Given the description of an element on the screen output the (x, y) to click on. 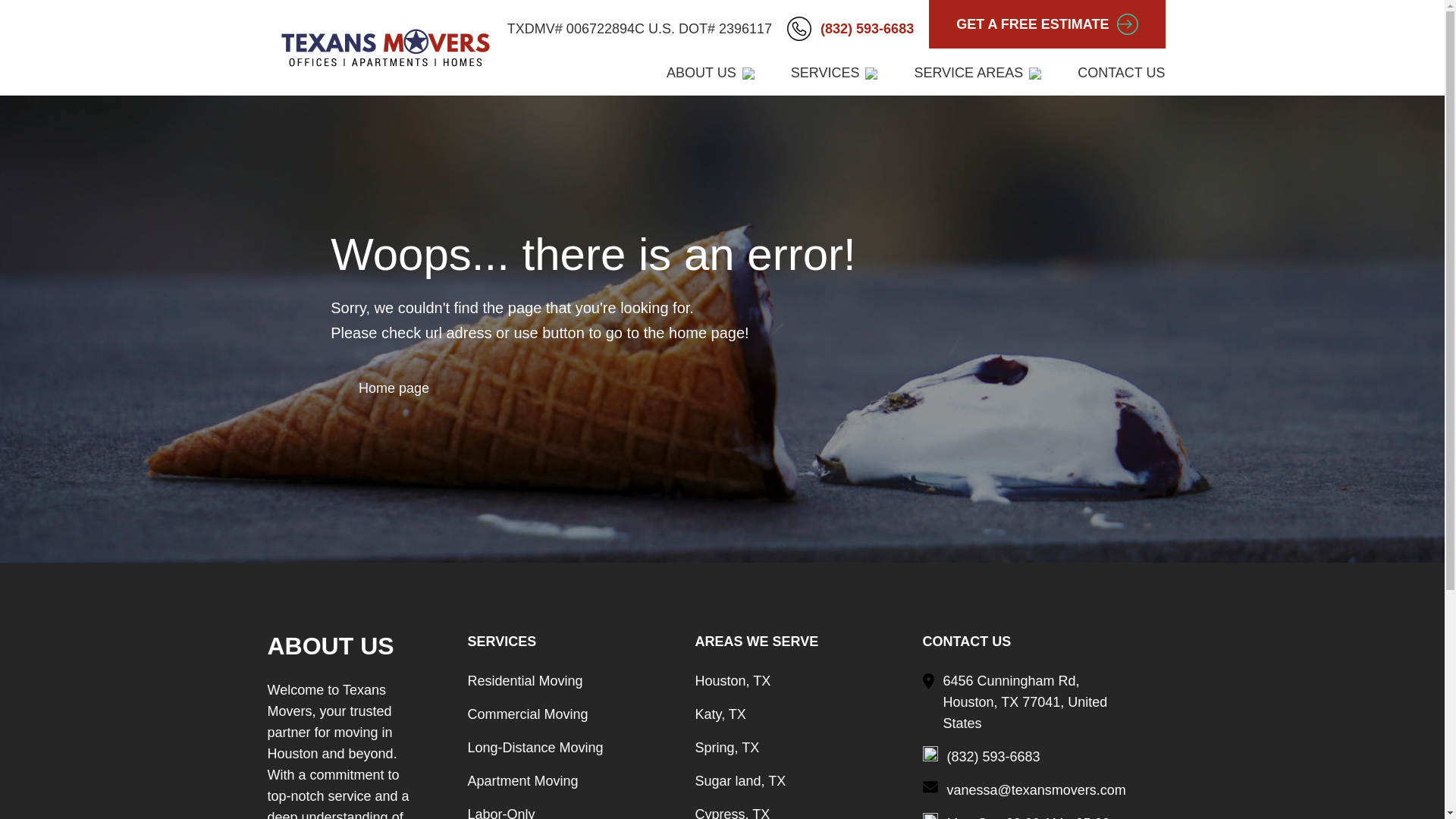
SERVICE AREAS (977, 72)
Vector-2 (929, 753)
logo (385, 47)
GET A FREE ESTIMATE (1046, 24)
Arrow Down (1035, 73)
Arrow Down (748, 73)
SERVICES (833, 72)
ABOUT US (710, 72)
Vector-1 (929, 816)
Arrow Down (870, 73)
